Given the description of an element on the screen output the (x, y) to click on. 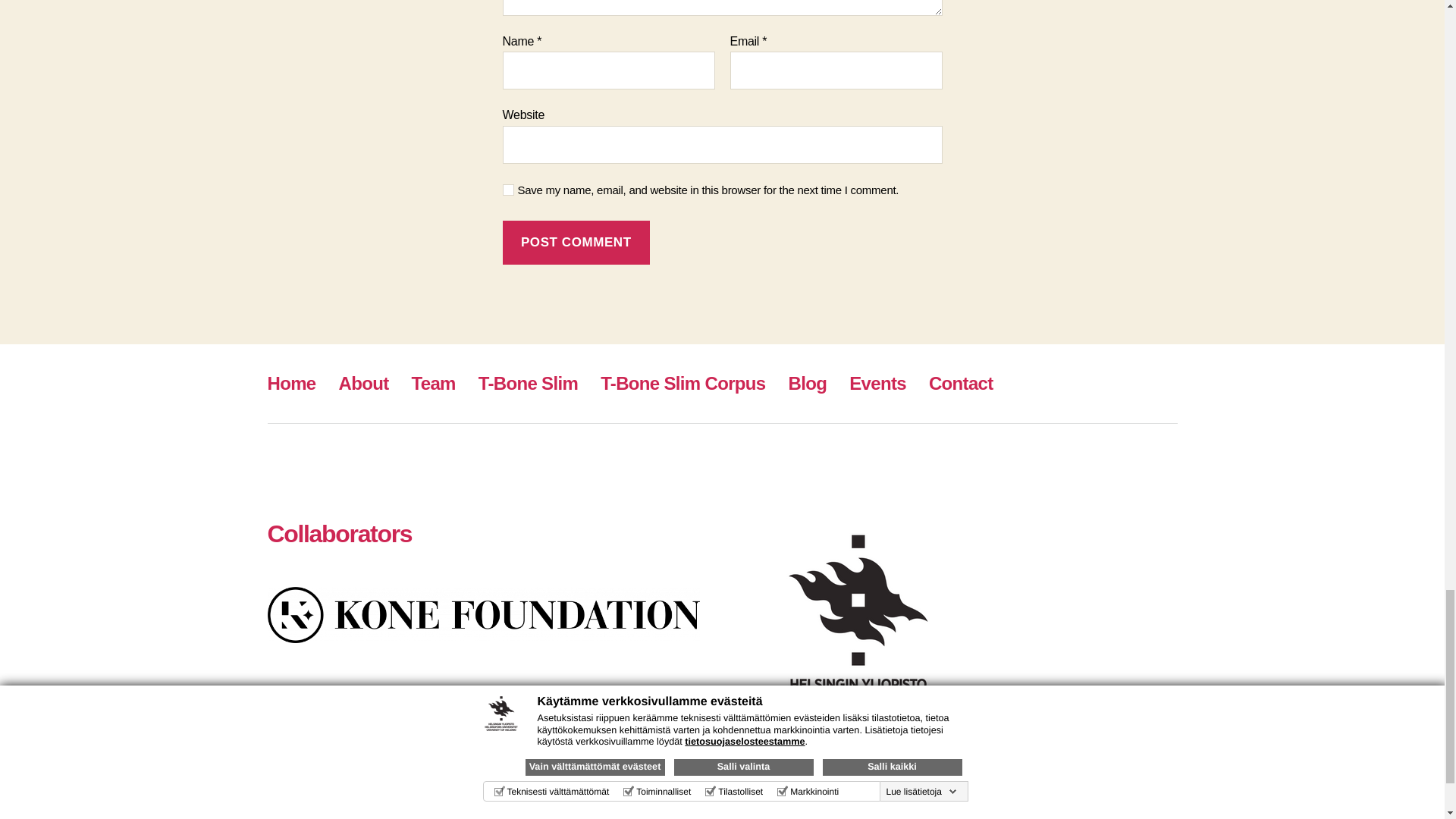
Post Comment (575, 242)
yes (507, 189)
